Given the description of an element on the screen output the (x, y) to click on. 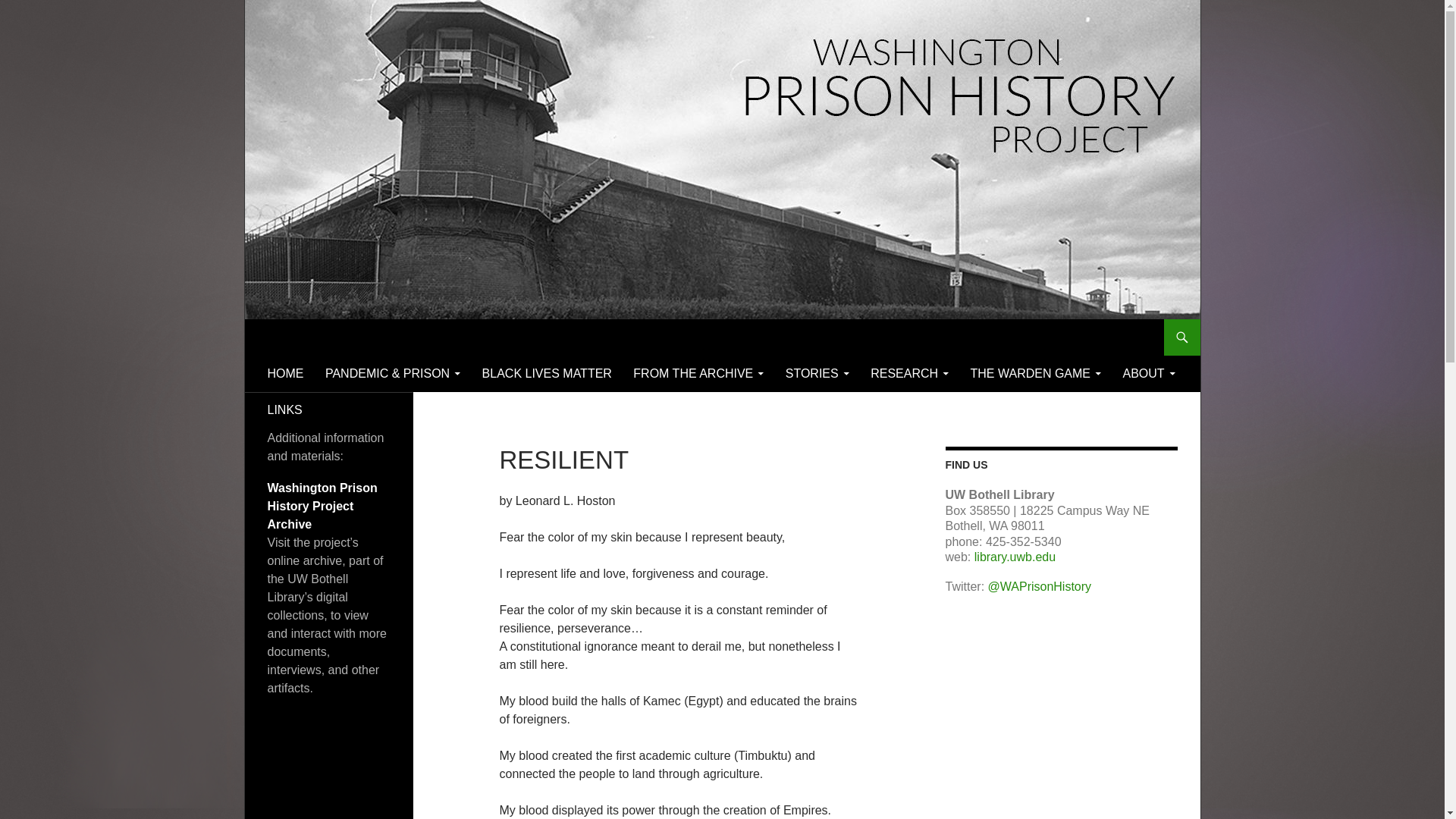
LINKS (284, 410)
library.uwb.edu (1014, 556)
Washington Prison History Project Archive (321, 505)
Washington Prison History Project (379, 337)
STORIES (817, 373)
ABOUT (1148, 373)
RESEARCH (909, 373)
BLACK LIVES MATTER (547, 373)
